Given the description of an element on the screen output the (x, y) to click on. 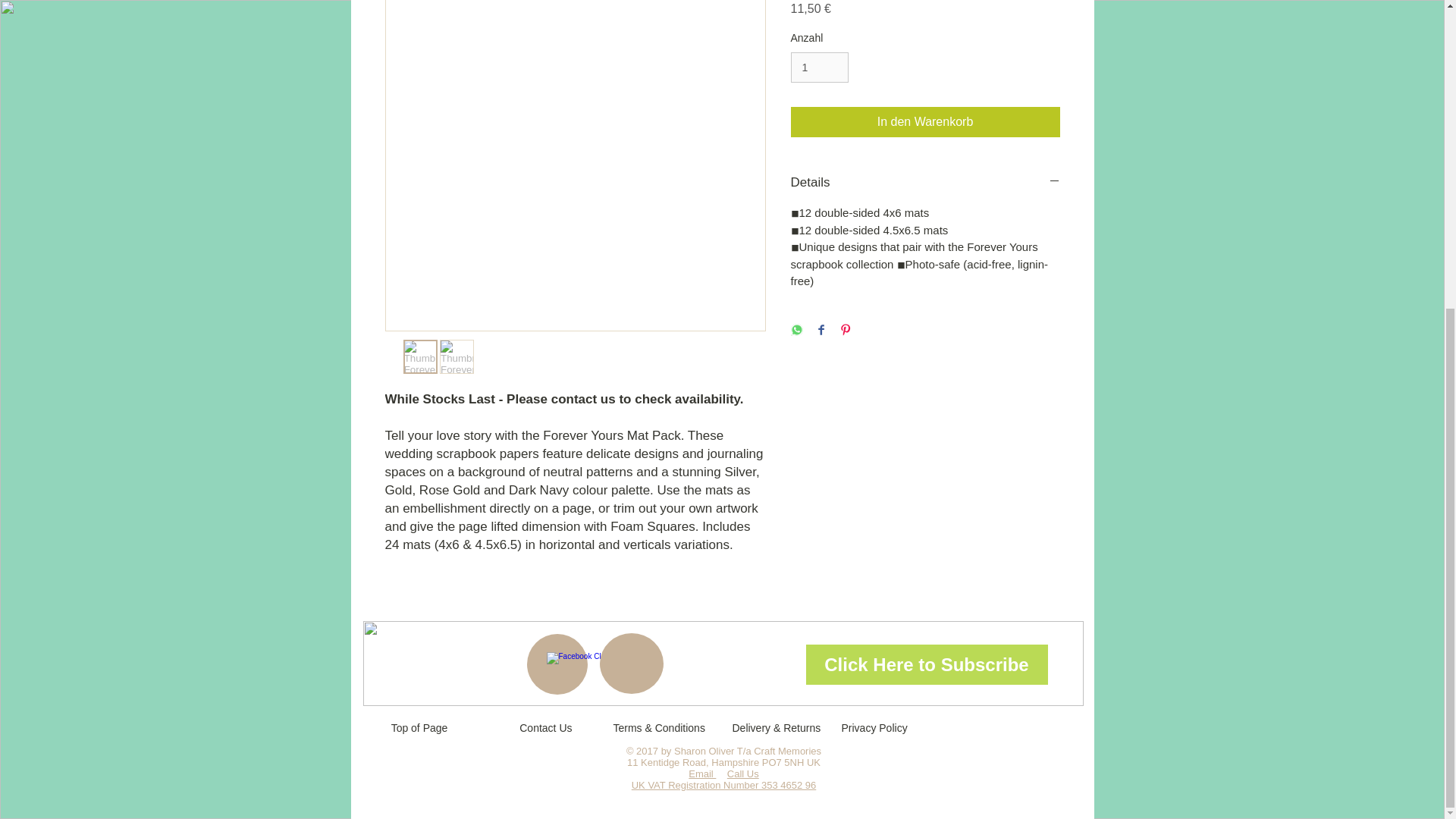
Details (924, 182)
Contact Us (537, 728)
Email  (702, 773)
Top of Page (418, 728)
Call Us (742, 773)
1 (818, 67)
Privacy Policy (874, 728)
Click Here to Subscribe (925, 664)
In den Warenkorb (924, 122)
